Given the description of an element on the screen output the (x, y) to click on. 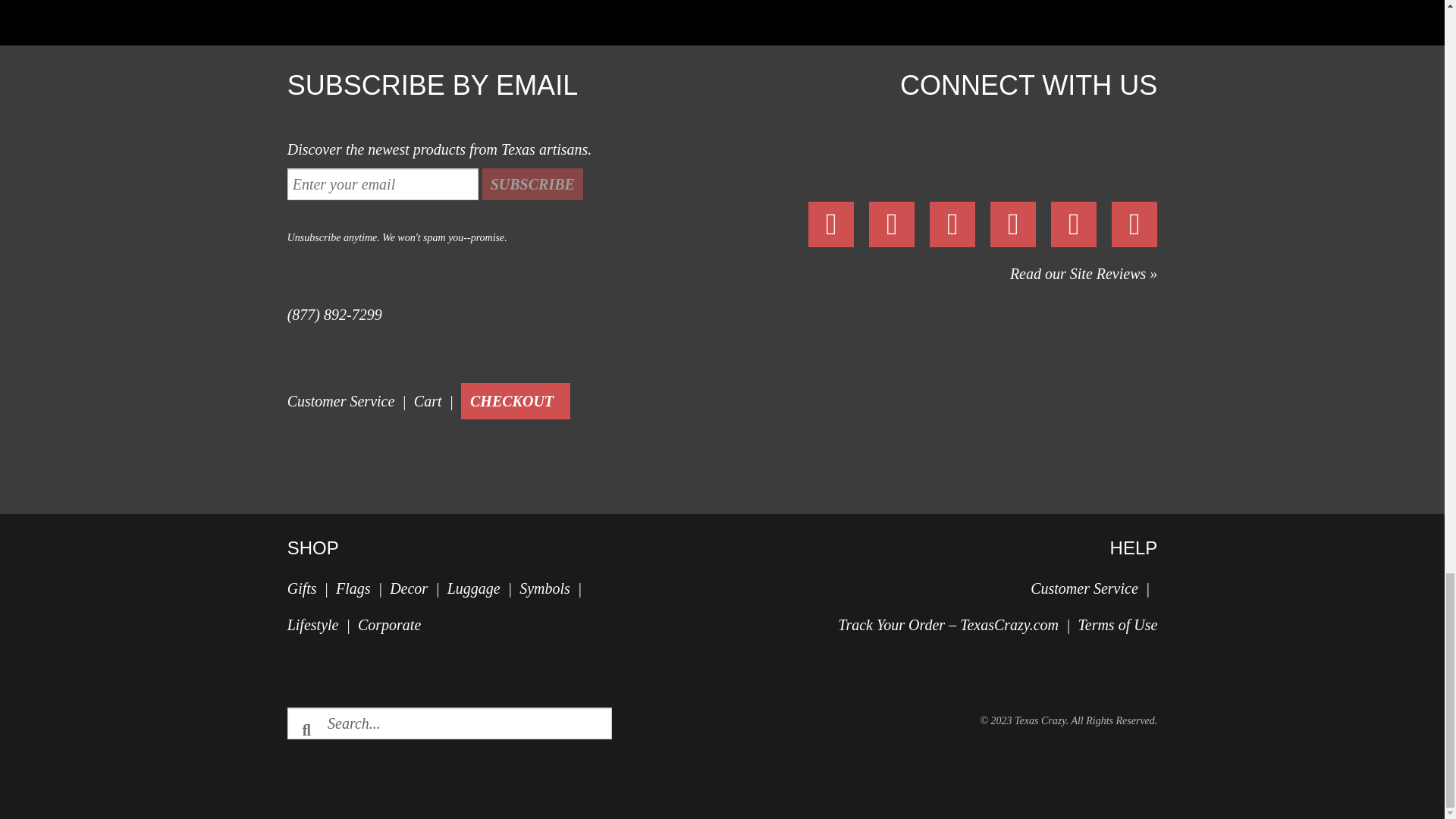
Subscribe (532, 183)
CHECKOUT (511, 400)
Cart (427, 401)
Customer Service (340, 401)
Subscribe (532, 183)
